Given the description of an element on the screen output the (x, y) to click on. 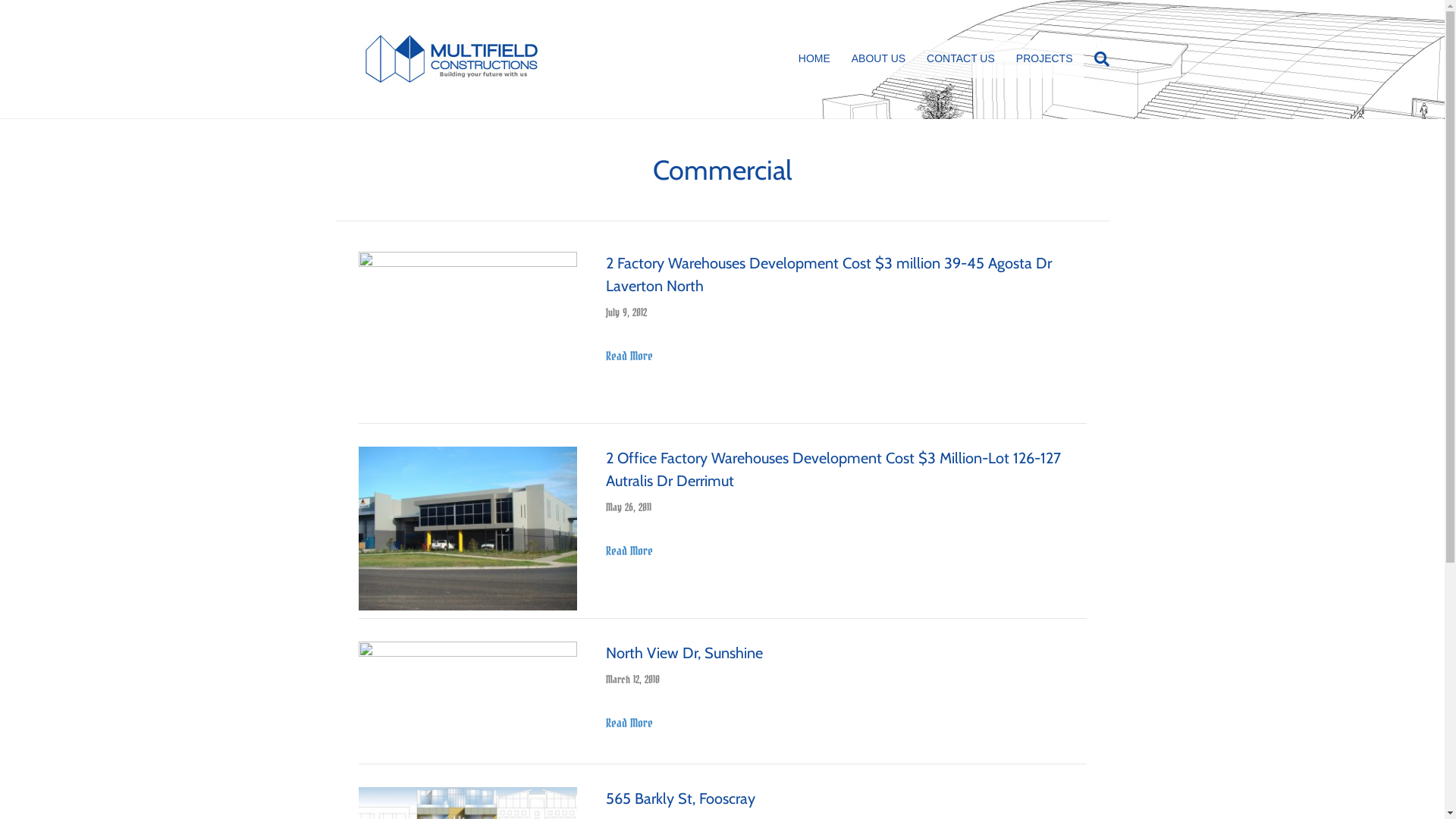
North View Dr, Sunshine Element type: hover (466, 698)
CONTACT US Element type: text (960, 59)
Read More Element type: text (628, 356)
HOME Element type: text (813, 59)
PROJECTS Element type: text (1044, 59)
ABOUT US Element type: text (878, 59)
565 Barkly St, Fooscray Element type: text (680, 798)
Read More Element type: text (628, 723)
North View Dr, Sunshine Element type: text (683, 652)
Read More Element type: text (628, 551)
